Given the description of an element on the screen output the (x, y) to click on. 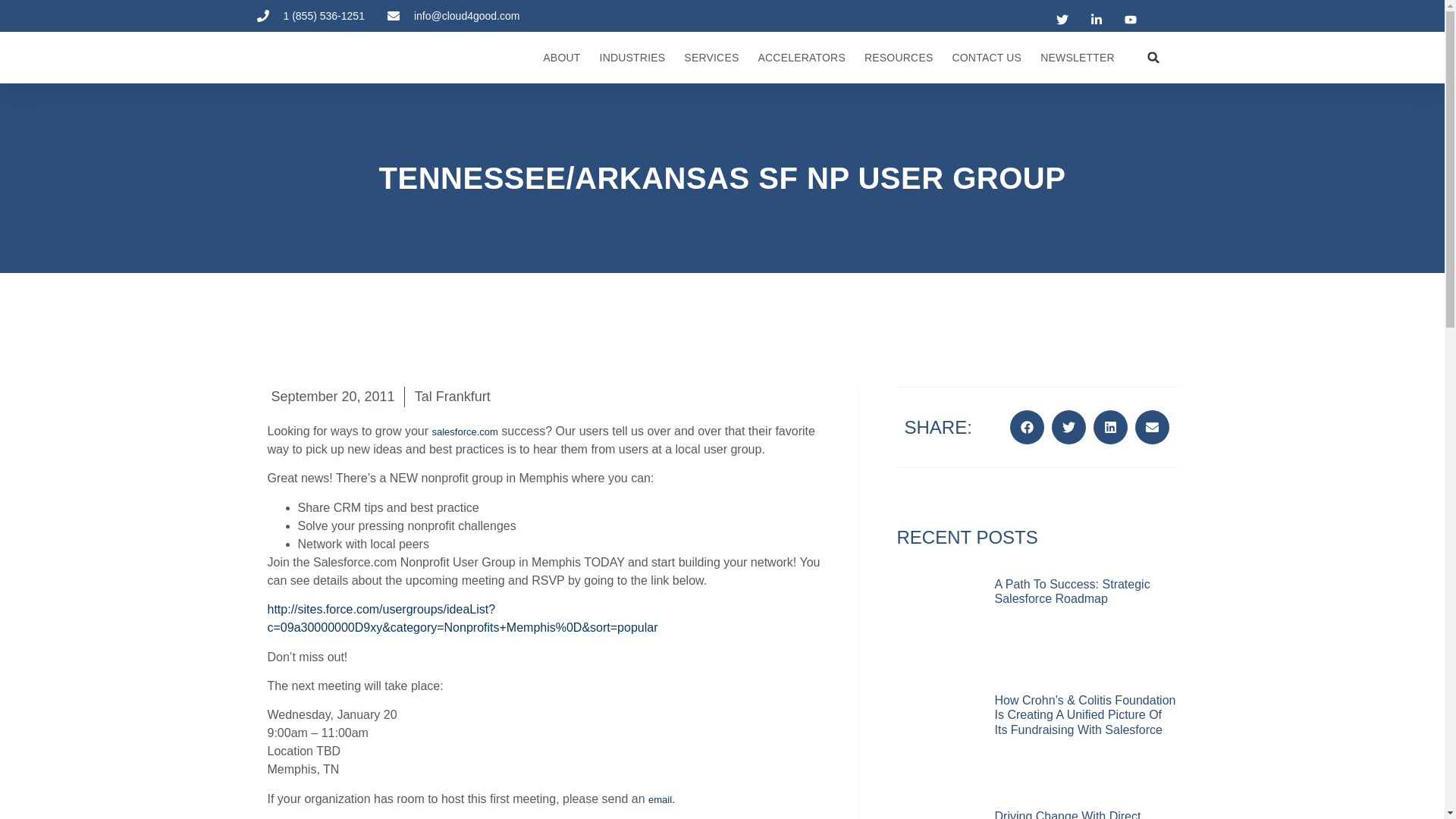
INDUSTRIES (632, 57)
SERVICES (711, 57)
ACCELERATORS (801, 57)
ABOUT (561, 57)
